Given the description of an element on the screen output the (x, y) to click on. 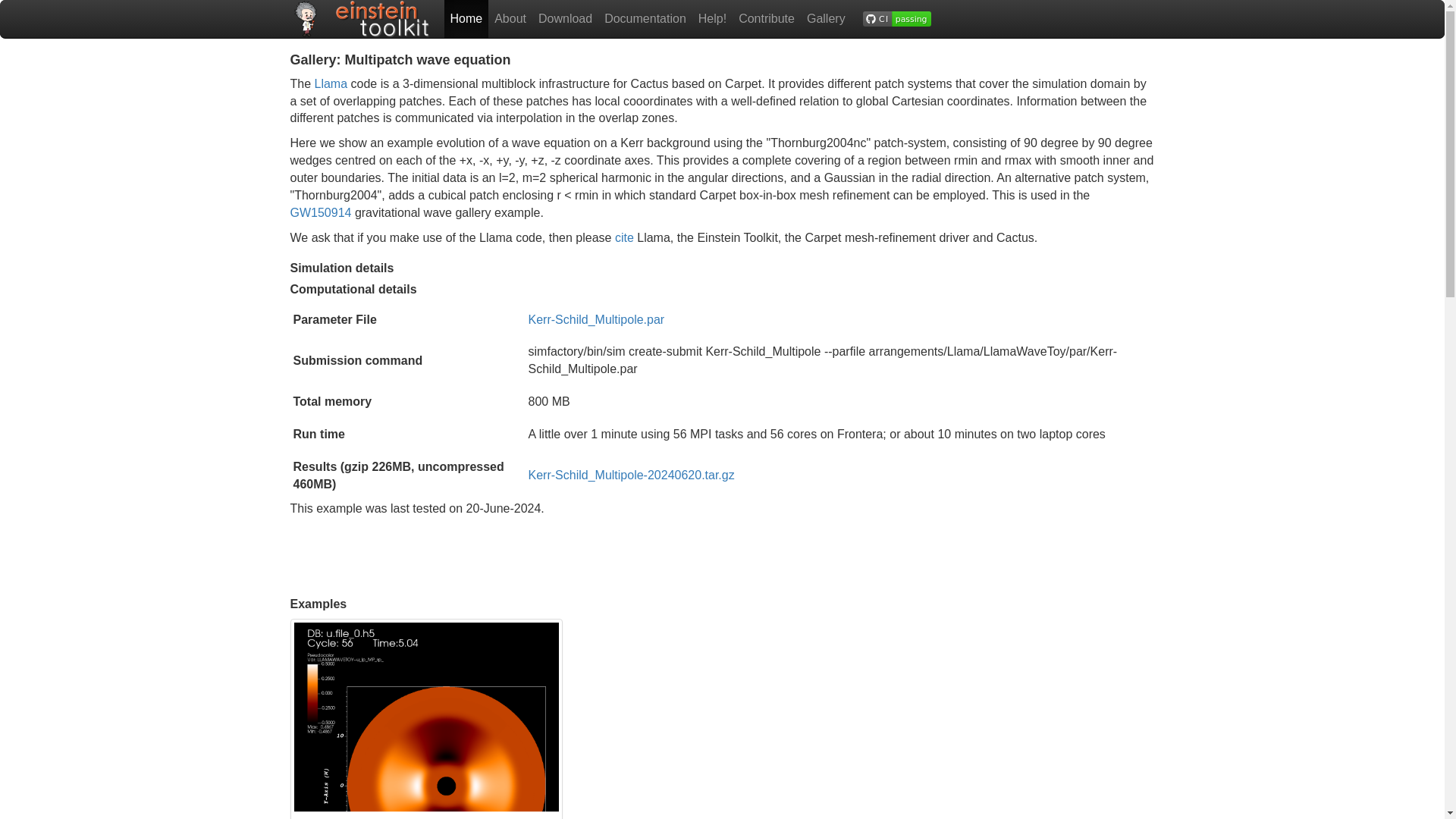
Download (565, 18)
Help! (712, 18)
Home (466, 18)
Contribute (766, 18)
About (509, 18)
Documentation (645, 18)
cite (623, 237)
Gallery (825, 18)
Llama (330, 83)
GW150914 (319, 212)
